Given the description of an element on the screen output the (x, y) to click on. 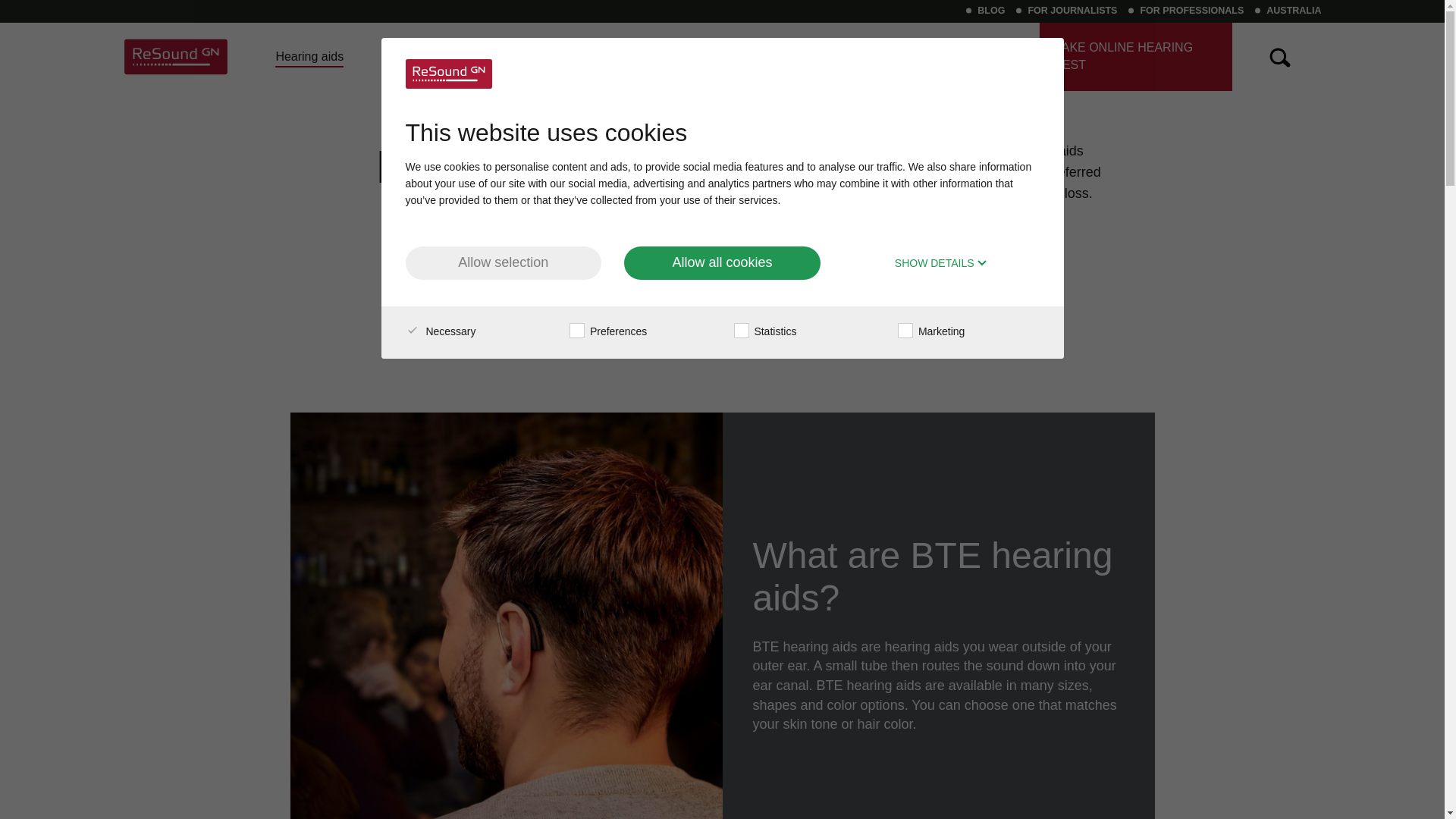
FOR PROFESSIONALS (1191, 9)
Why ReSound (460, 56)
SHOW DETAILS (941, 263)
Hearing aids (308, 56)
Allow all cookies (722, 263)
SHOW DETAILS (941, 263)
Skip to main content (721, 7)
BLOG (990, 9)
Allow selection (502, 263)
FOR JOURNALISTS (1072, 9)
